Given the description of an element on the screen output the (x, y) to click on. 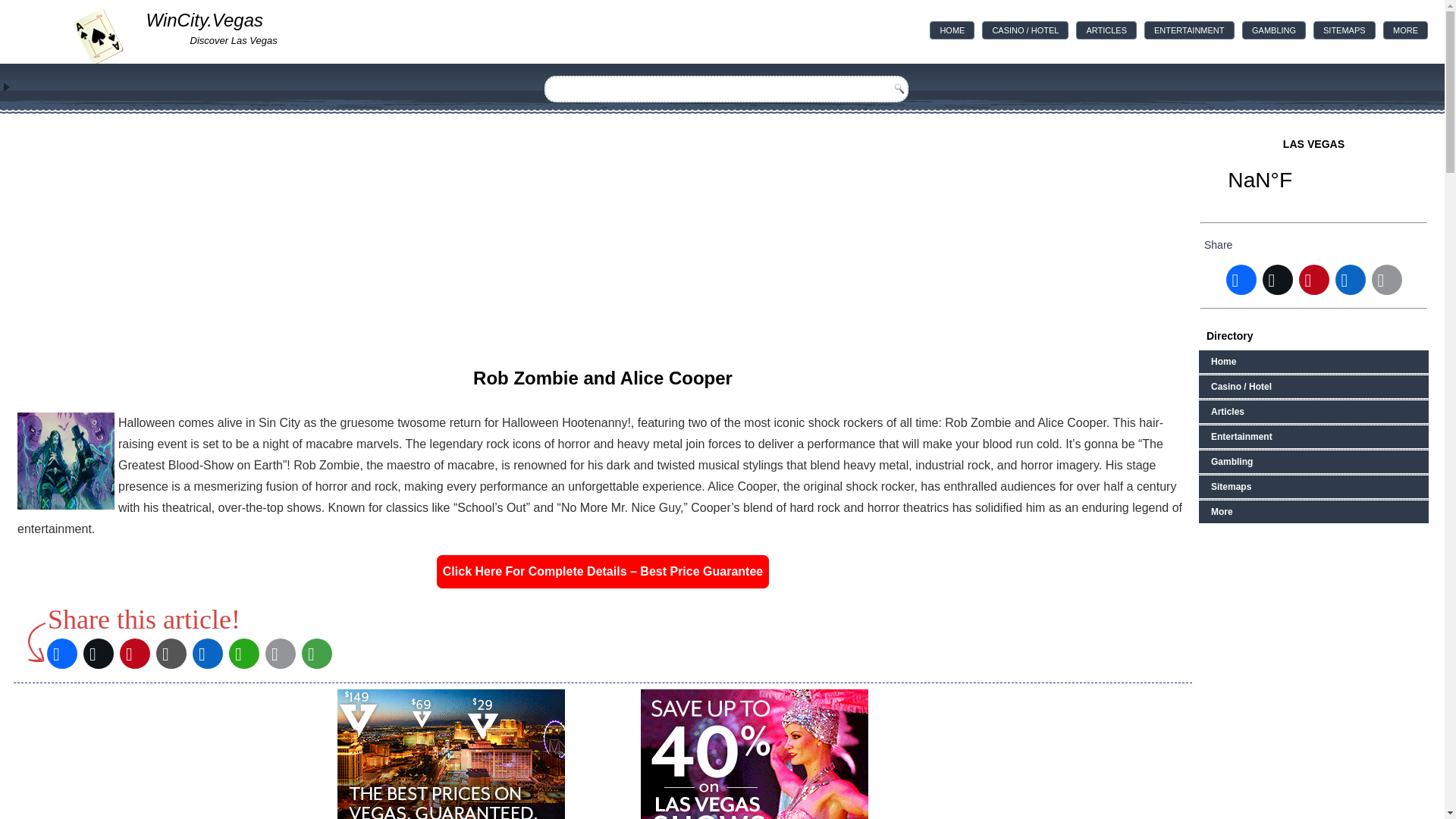
MORE (1405, 30)
Entertainment (1189, 30)
ARTICLES (1106, 30)
HOME (952, 30)
ENTERTAINMENT (1189, 30)
WinCity.Vegas (204, 19)
Home (952, 30)
Articles (1106, 30)
GAMBLING (1273, 30)
Gambling (1273, 30)
SITEMAPS (1344, 30)
